Given the description of an element on the screen output the (x, y) to click on. 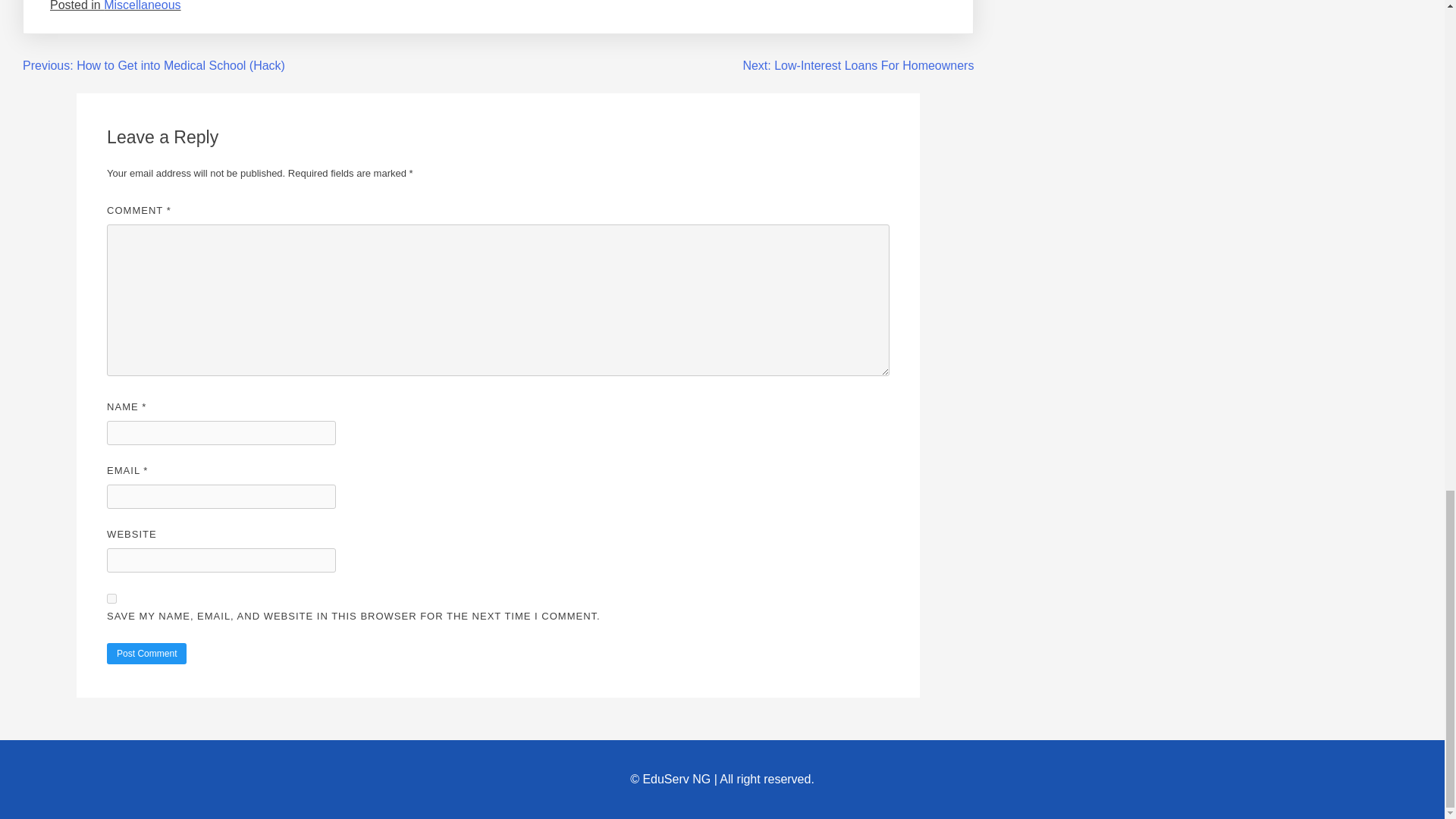
yes (111, 598)
Post Comment (146, 653)
Miscellaneous (141, 5)
Next: Low-Interest Loans For Homeowners (858, 65)
Post Comment (146, 653)
